Given the description of an element on the screen output the (x, y) to click on. 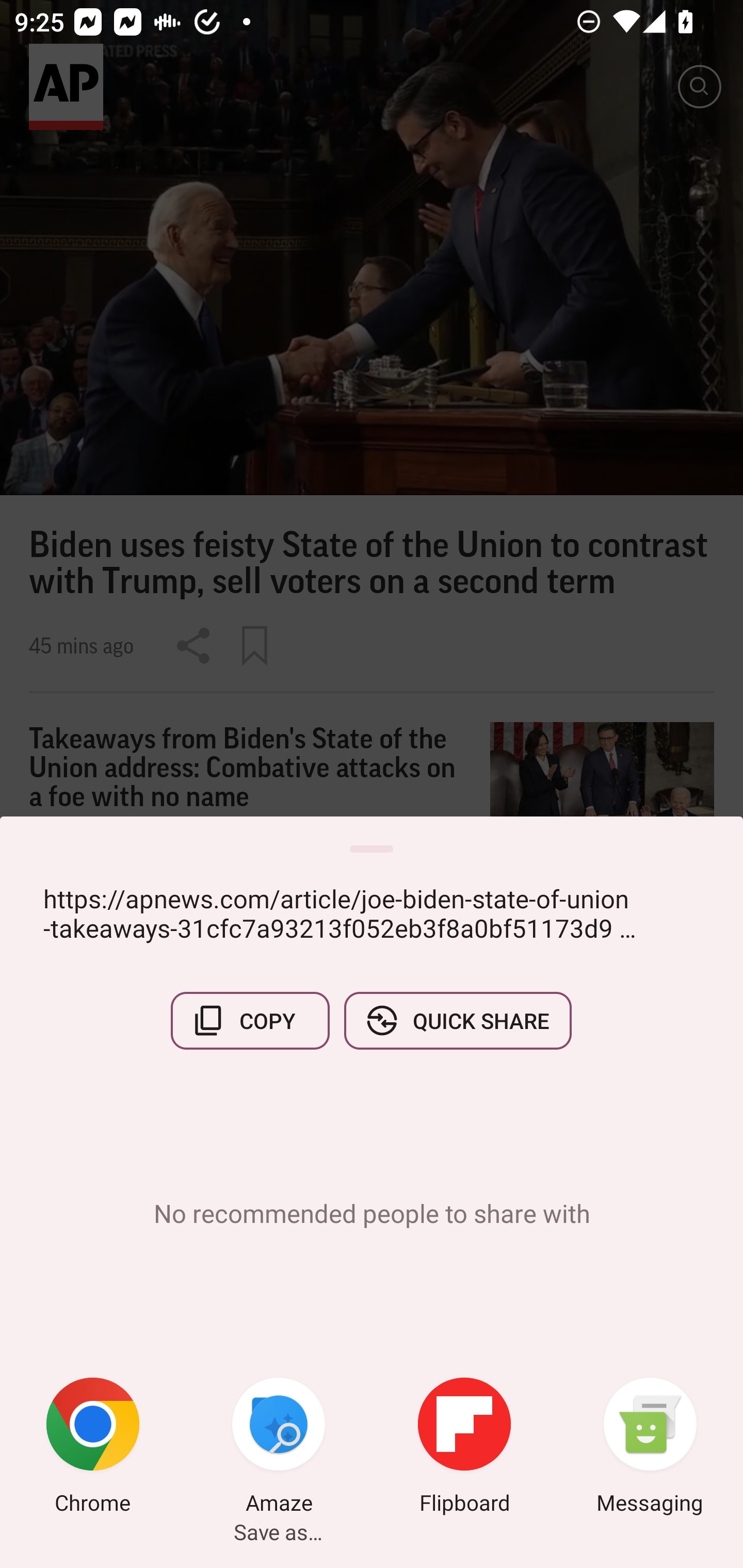
COPY (249, 1020)
QUICK SHARE (457, 1020)
Chrome (92, 1448)
Amaze Save as… (278, 1448)
Flipboard (464, 1448)
Messaging (650, 1448)
